Given the description of an element on the screen output the (x, y) to click on. 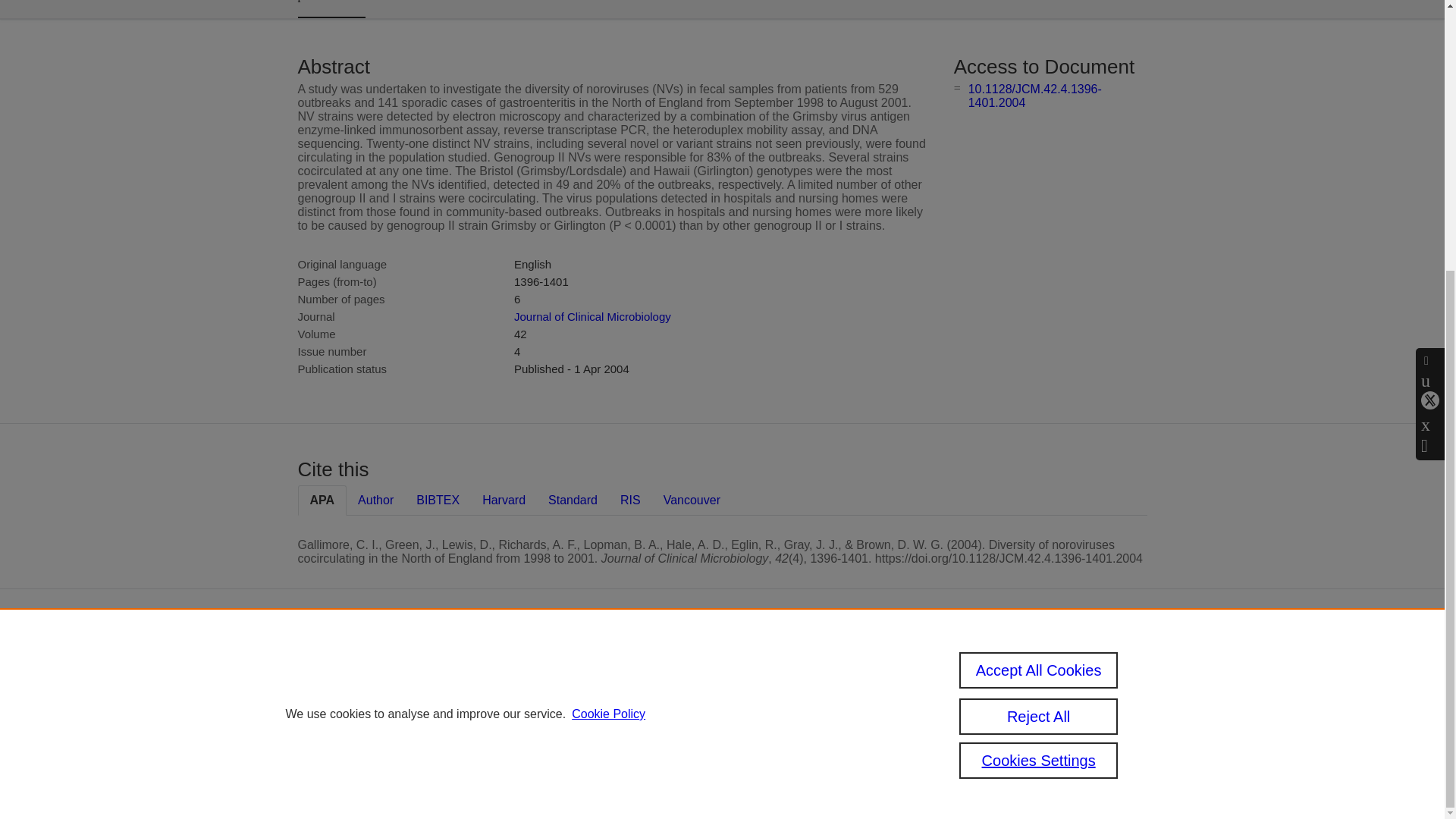
Journal of Clinical Microbiology (592, 316)
Pure (620, 664)
About web accessibility (1005, 712)
Log in to Pure (584, 780)
Cookies Settings (591, 760)
use of cookies (660, 739)
Cookies Settings (1038, 365)
Scopus (652, 664)
Reject All (1038, 321)
Contact us (1125, 670)
University of East Anglia data protection policy (1027, 675)
Overview (331, 9)
Elsevier B.V. (764, 685)
Report vulnerability (1021, 739)
Cookie Policy (608, 318)
